Given the description of an element on the screen output the (x, y) to click on. 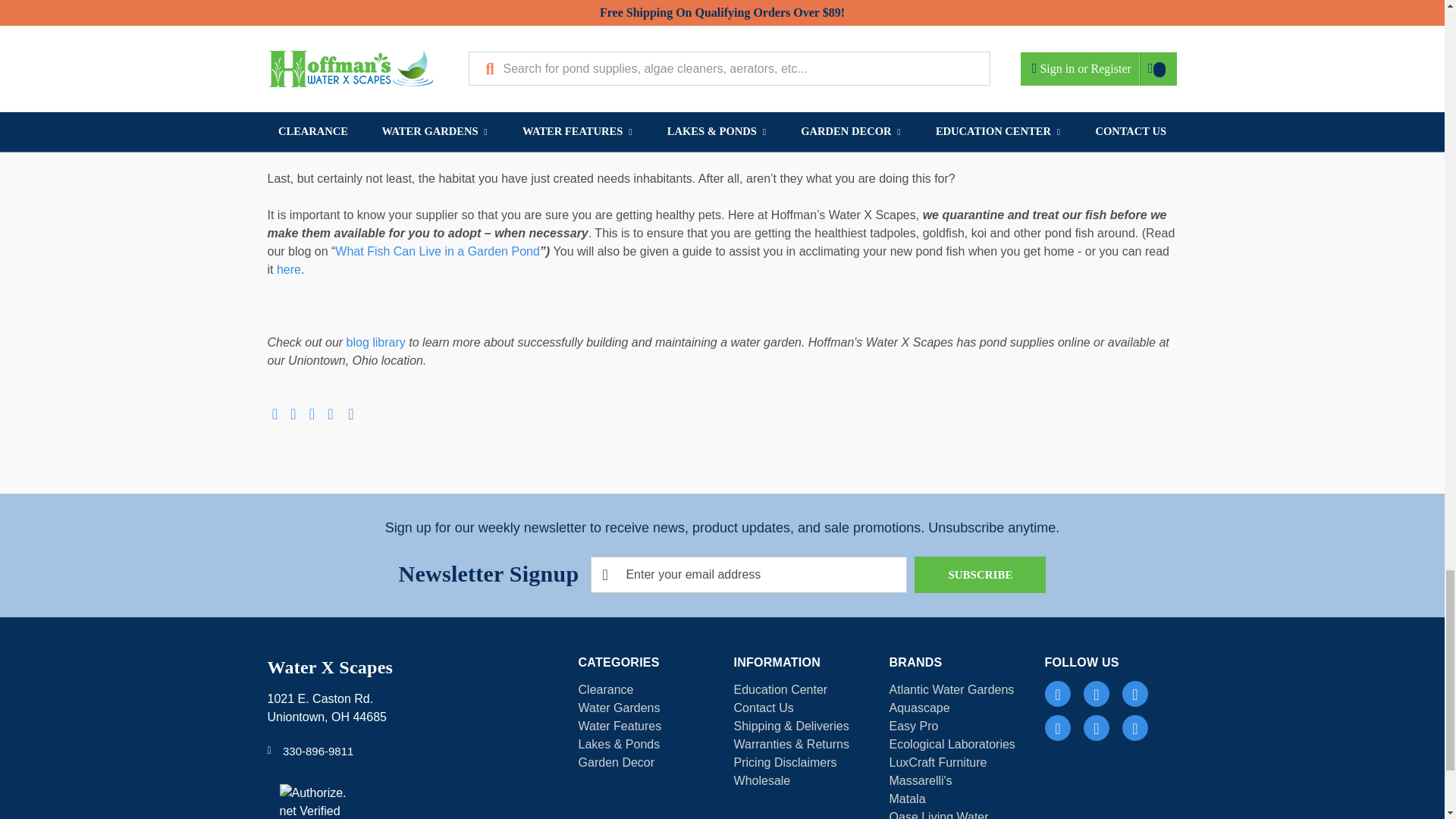
Email (293, 406)
Facebook (274, 406)
Water X Scapes Shipping Policies (790, 725)
Print (311, 406)
Twitter (330, 406)
Pinterest (350, 406)
Subscribe (979, 574)
